Given the description of an element on the screen output the (x, y) to click on. 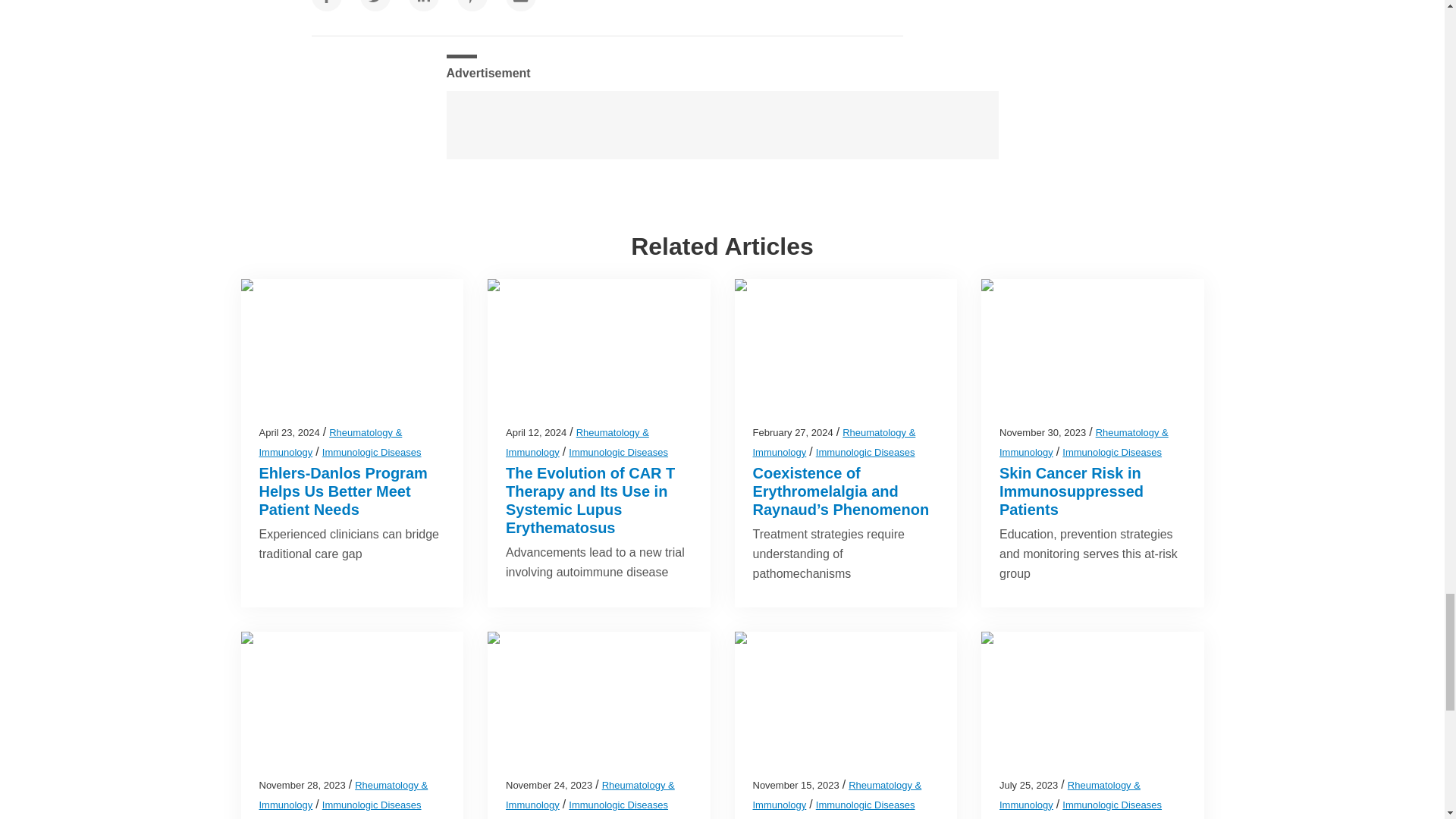
Immunologic Diseases (371, 451)
Immunologic Diseases (618, 451)
Ehlers-Danlos Program Helps Us Better Meet Patient Needs (343, 491)
